Given the description of an element on the screen output the (x, y) to click on. 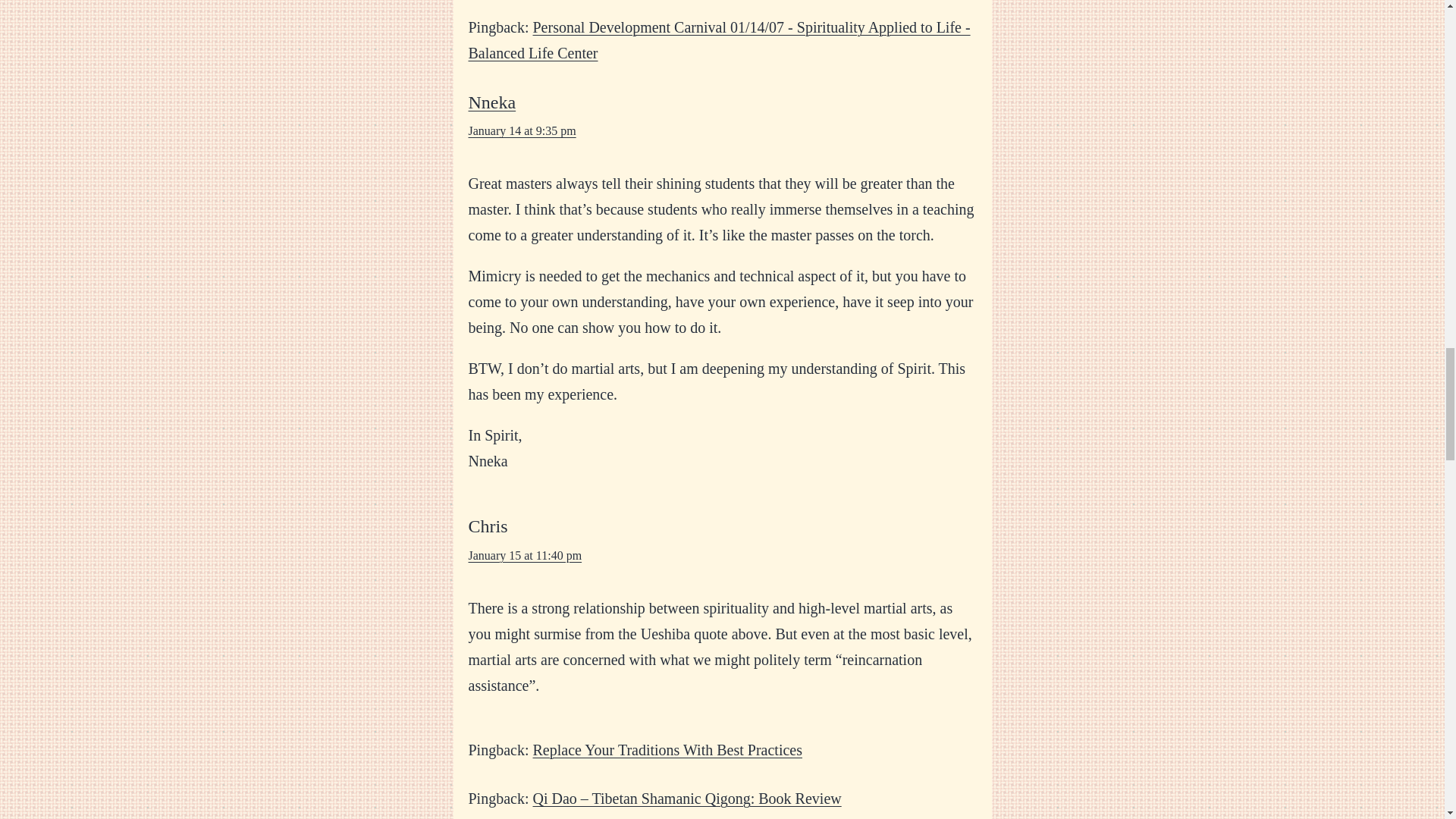
January 15 at 11:40 pm (525, 554)
Nneka (492, 102)
Replace Your Traditions With Best Practices (667, 750)
January 14 at 9:35 pm (522, 130)
